Given the description of an element on the screen output the (x, y) to click on. 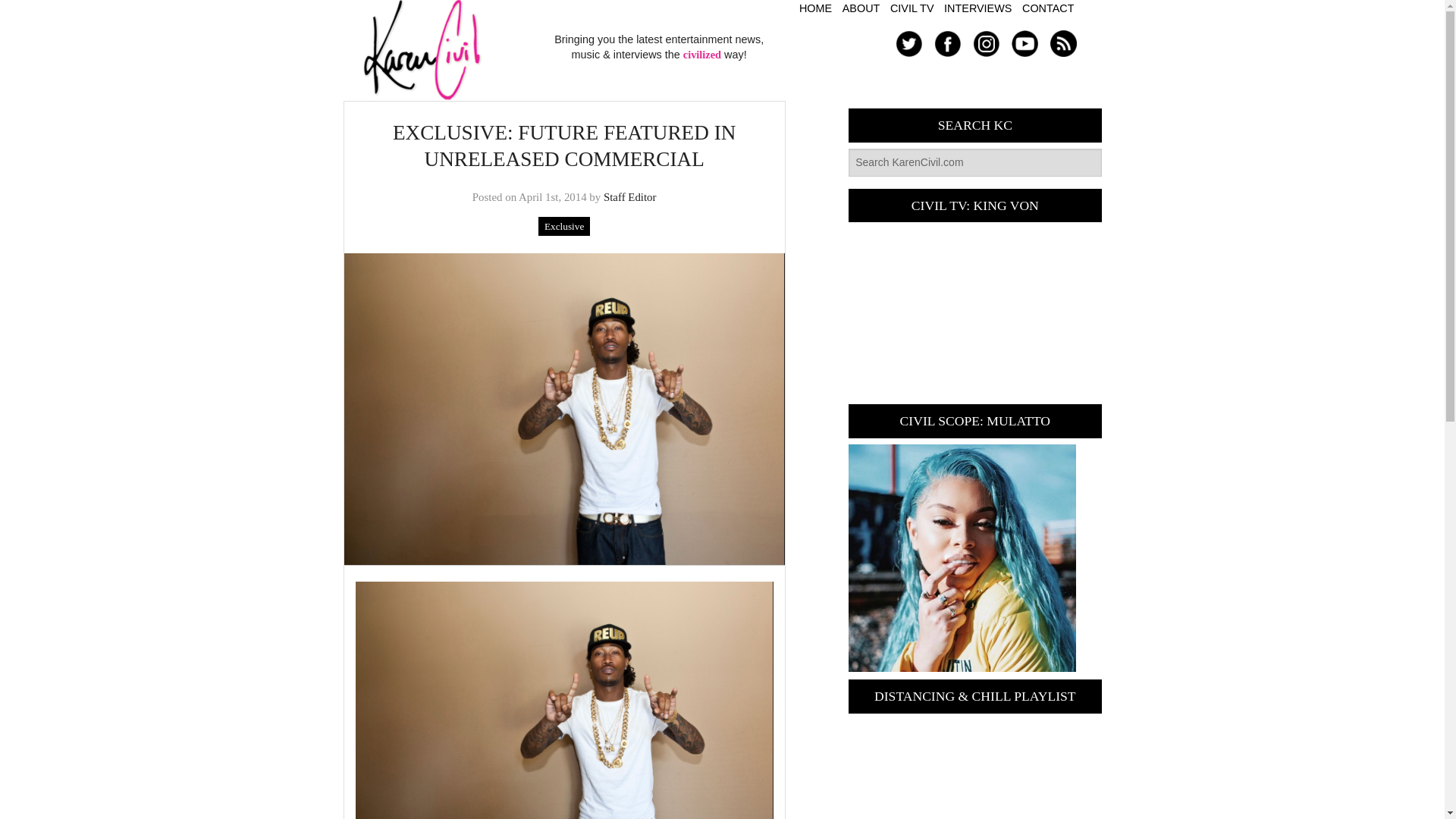
HOME (815, 8)
Exclusive (563, 226)
INTERVIEWS (977, 8)
CONTACT (1048, 8)
CIVIL TV (911, 8)
CIVIL SCOPE: MULATTO (961, 557)
Search KarenCivil.com (974, 162)
ABOUT (861, 8)
